Given the description of an element on the screen output the (x, y) to click on. 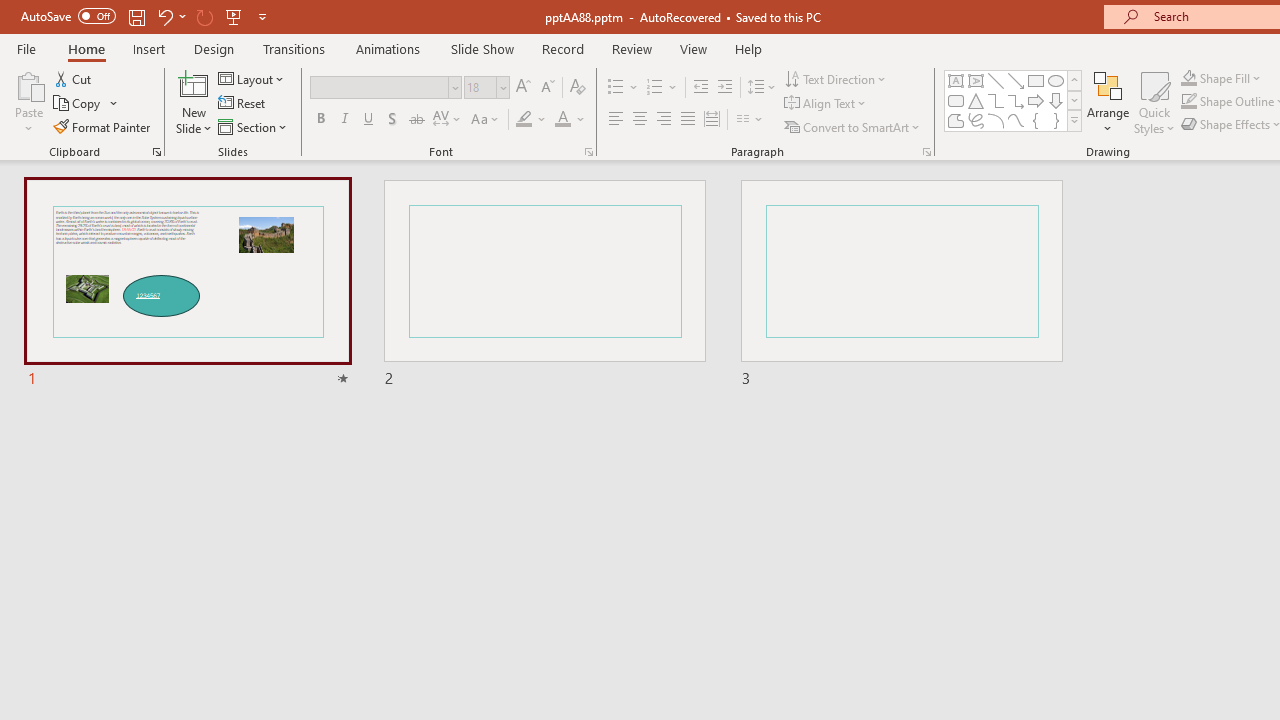
Copy (78, 103)
Review (631, 48)
Vertical Text Box (975, 80)
Strikethrough (416, 119)
Line (995, 80)
Distributed (712, 119)
AutoSave (68, 16)
Isosceles Triangle (975, 100)
More Options (1232, 78)
Italic (344, 119)
Row up (1074, 79)
Arrange (1108, 102)
Redo (204, 15)
Rectangle (1035, 80)
